Given the description of an element on the screen output the (x, y) to click on. 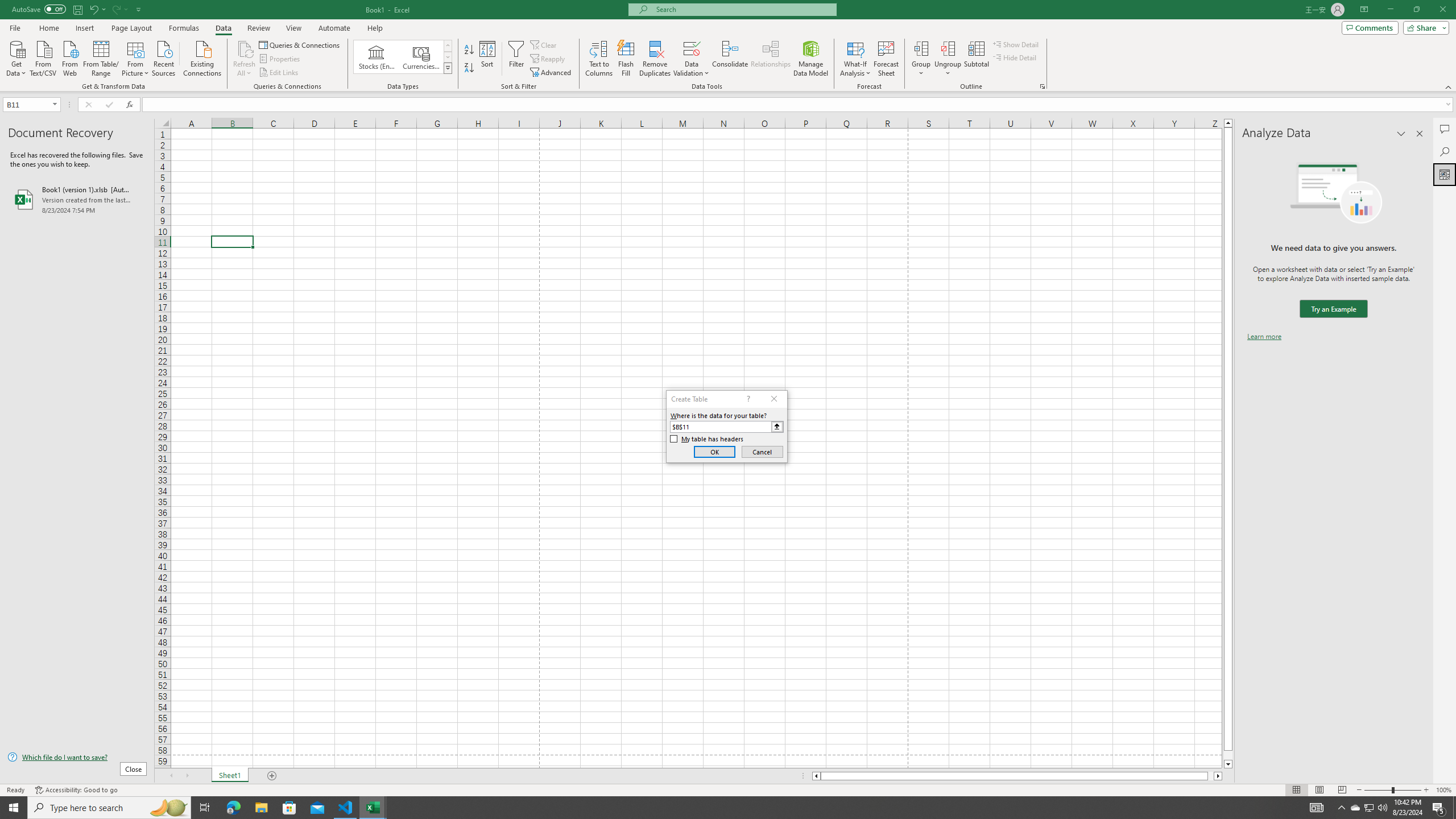
Name Box (27, 104)
More Options (947, 68)
View (293, 28)
